Given the description of an element on the screen output the (x, y) to click on. 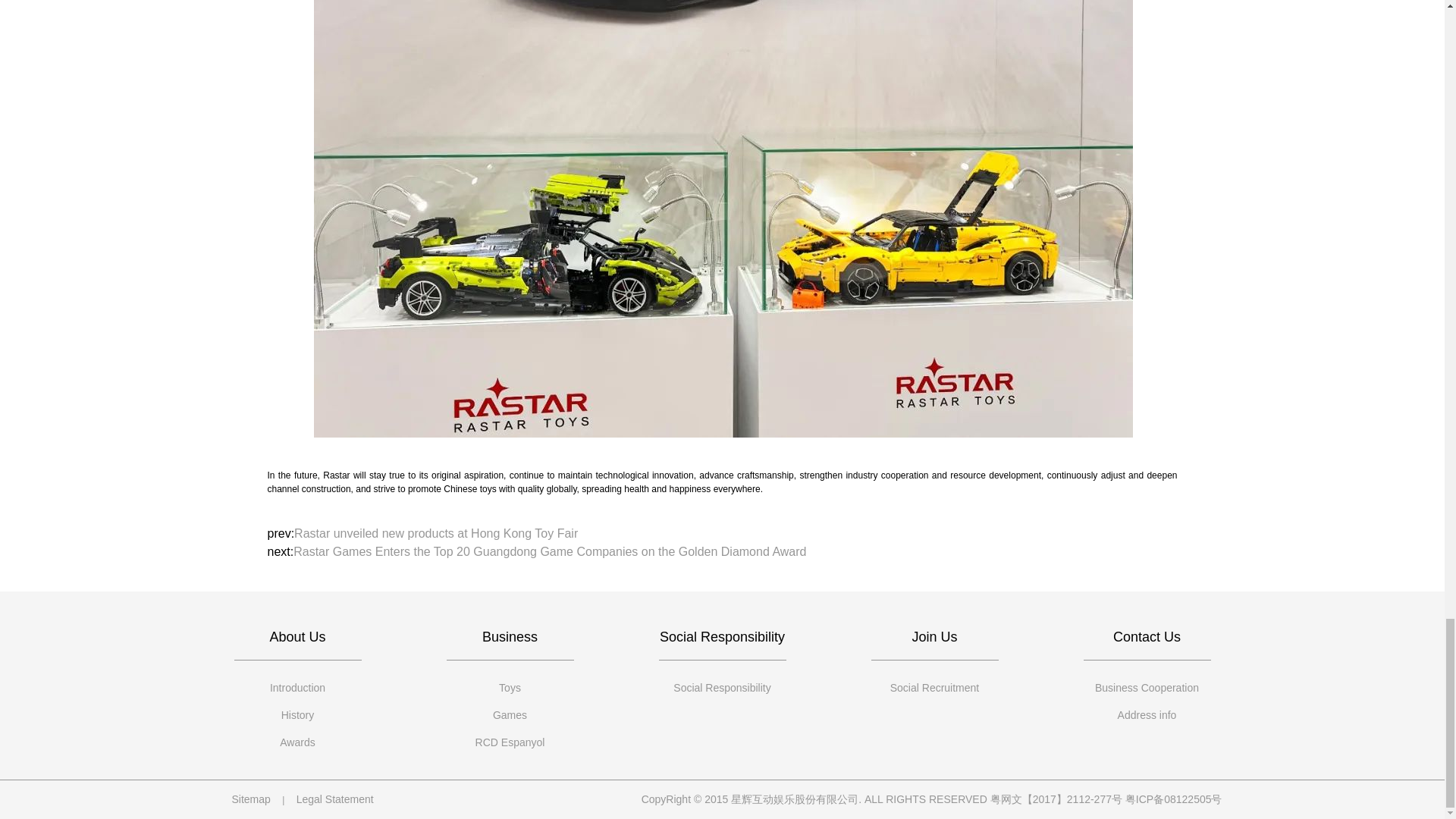
RCD Espanyol (509, 741)
Introduction (296, 687)
History (296, 714)
RCD Espanyol (509, 741)
Awards (296, 741)
Rastar Games (509, 714)
Introduction (296, 687)
Sitemap (250, 799)
History (296, 714)
Social Responsibility (721, 687)
